Given the description of an element on the screen output the (x, y) to click on. 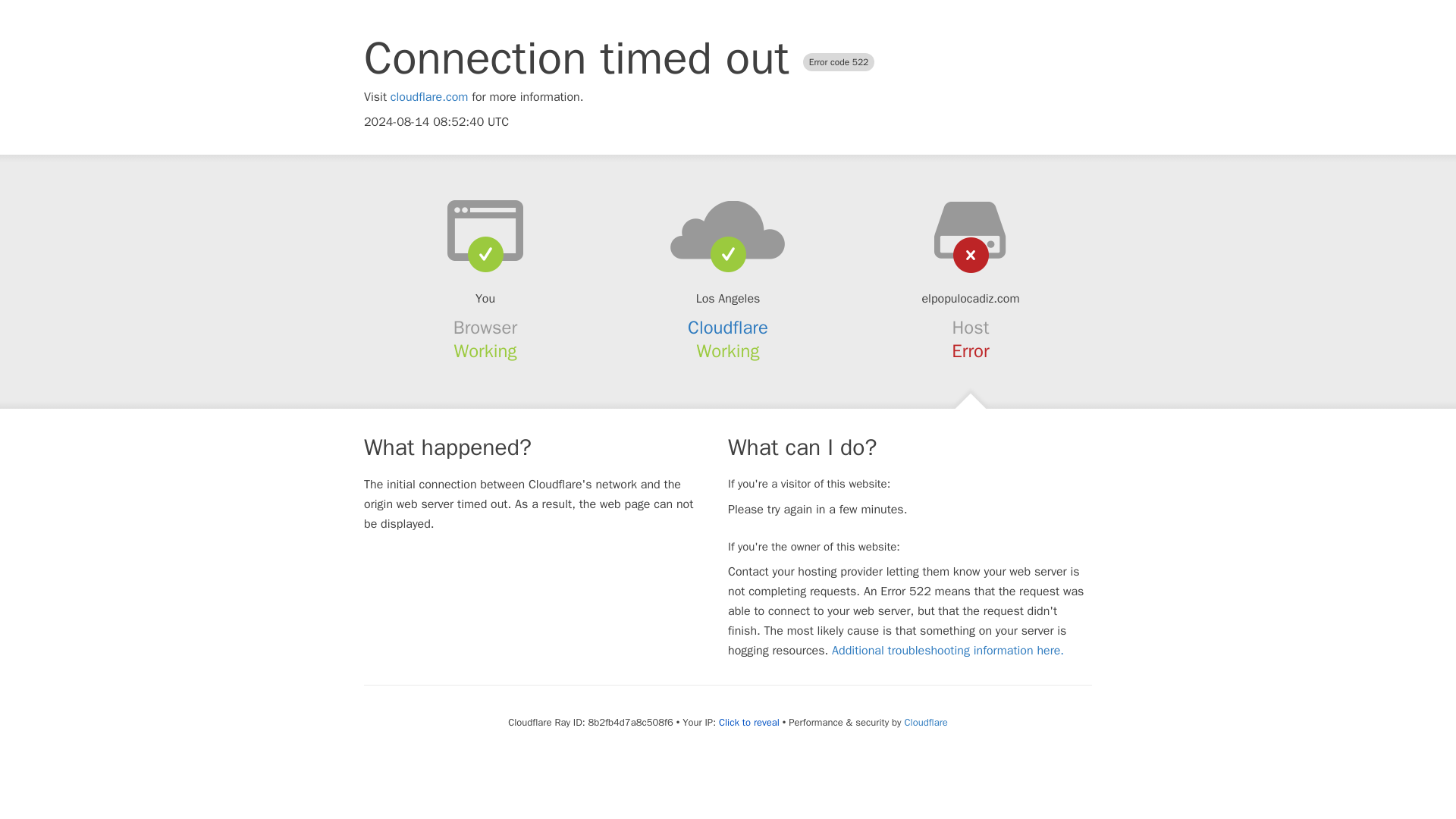
cloudflare.com (429, 96)
Additional troubleshooting information here. (947, 650)
Cloudflare (925, 721)
Cloudflare (727, 327)
Click to reveal (748, 722)
